Given the description of an element on the screen output the (x, y) to click on. 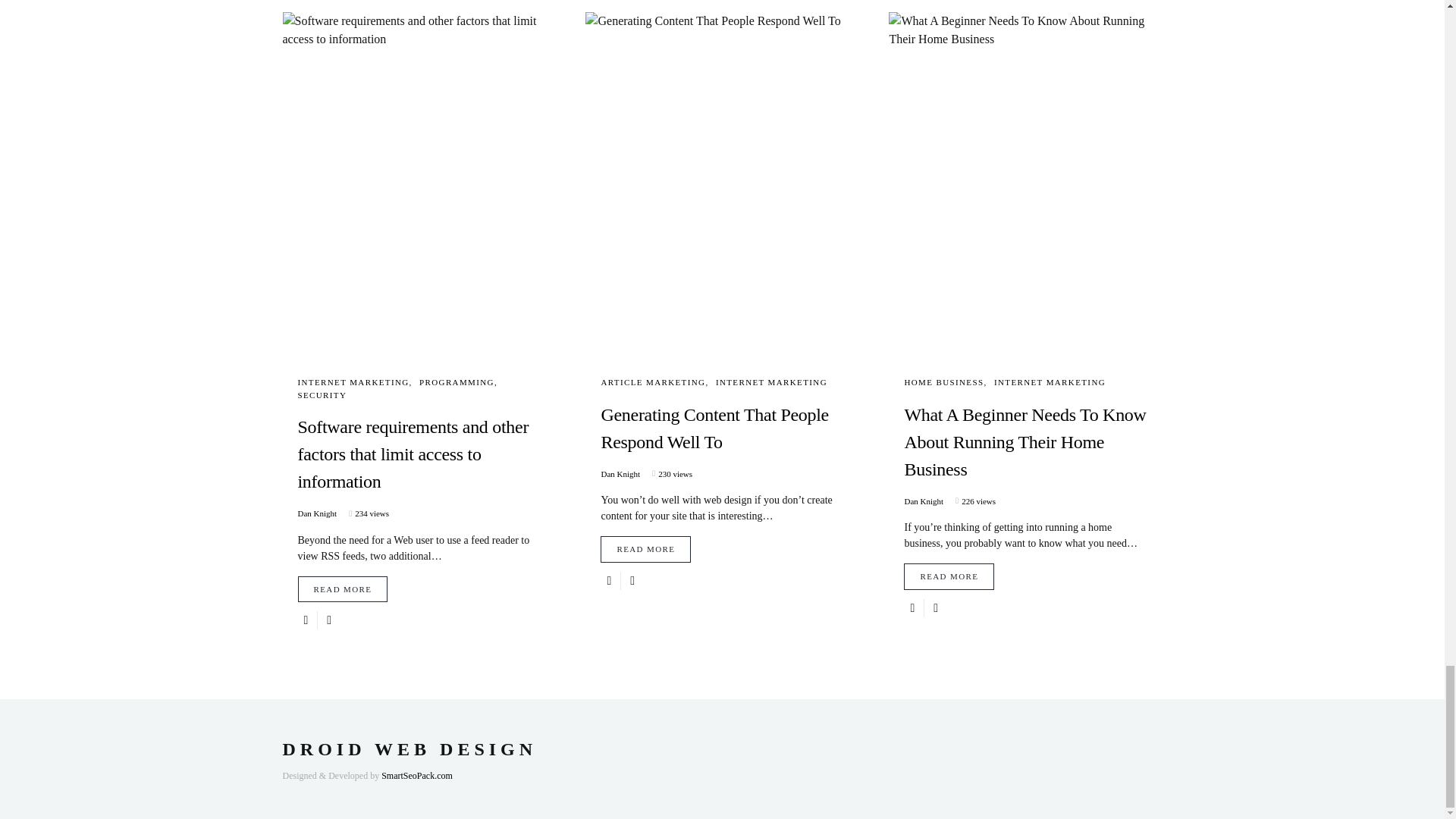
View all posts by Dan Knight (923, 501)
View all posts by Dan Knight (316, 513)
Generating Content That People Respond Well To (721, 442)
View all posts by Dan Knight (619, 473)
